Given the description of an element on the screen output the (x, y) to click on. 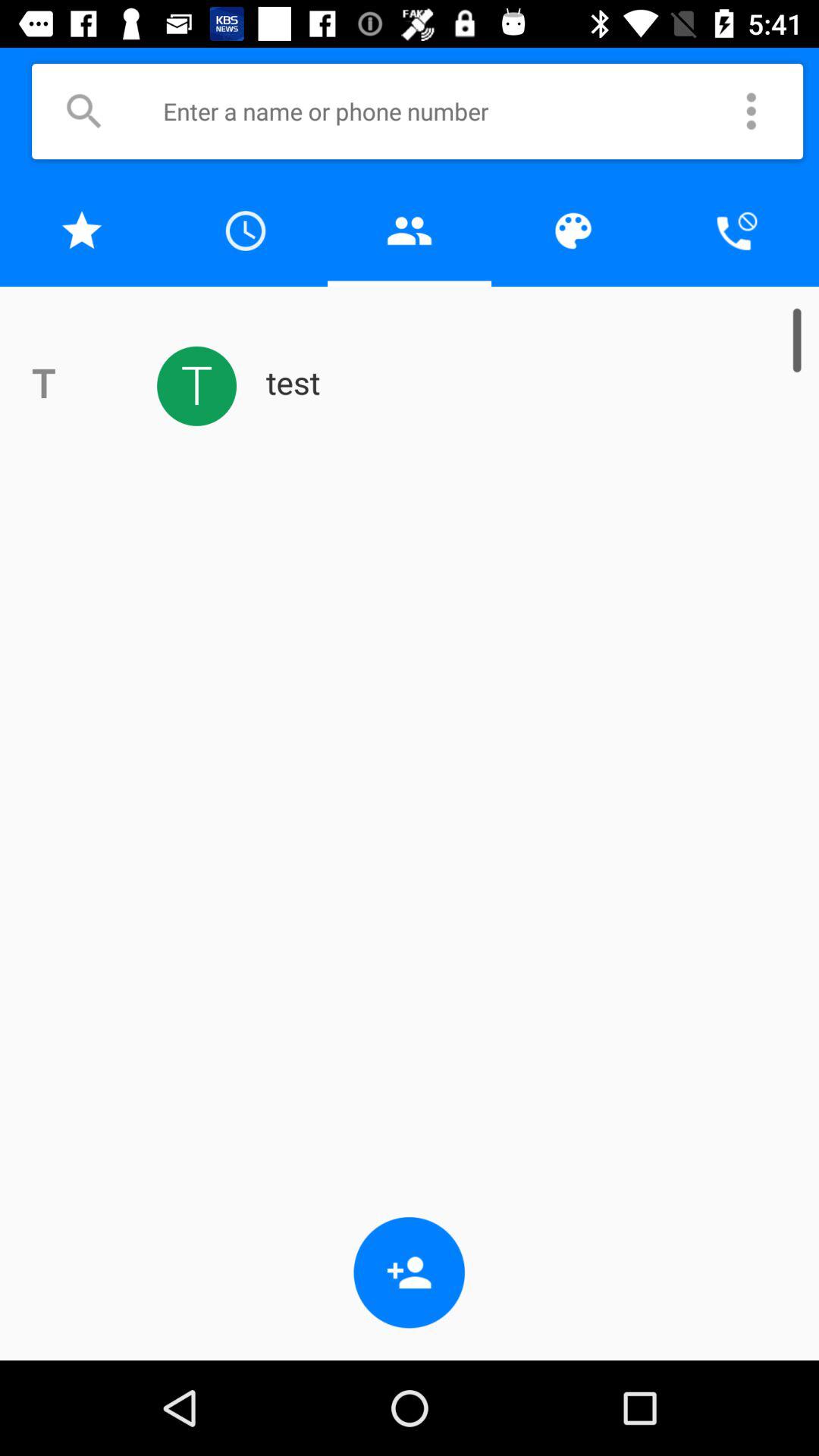
view recent contacts (245, 230)
